Given the description of an element on the screen output the (x, y) to click on. 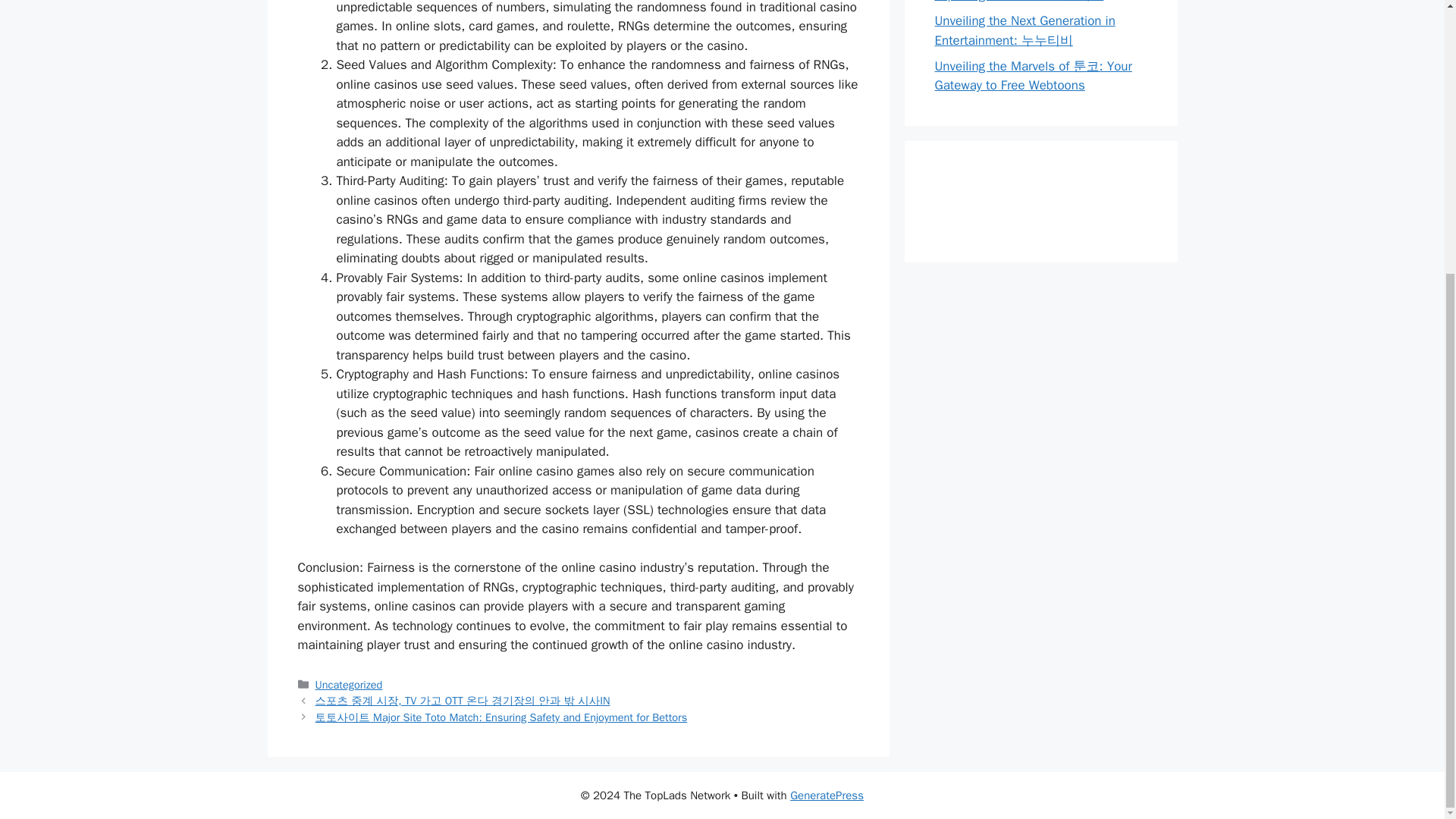
GeneratePress (826, 795)
Uncategorized (348, 684)
